Given the description of an element on the screen output the (x, y) to click on. 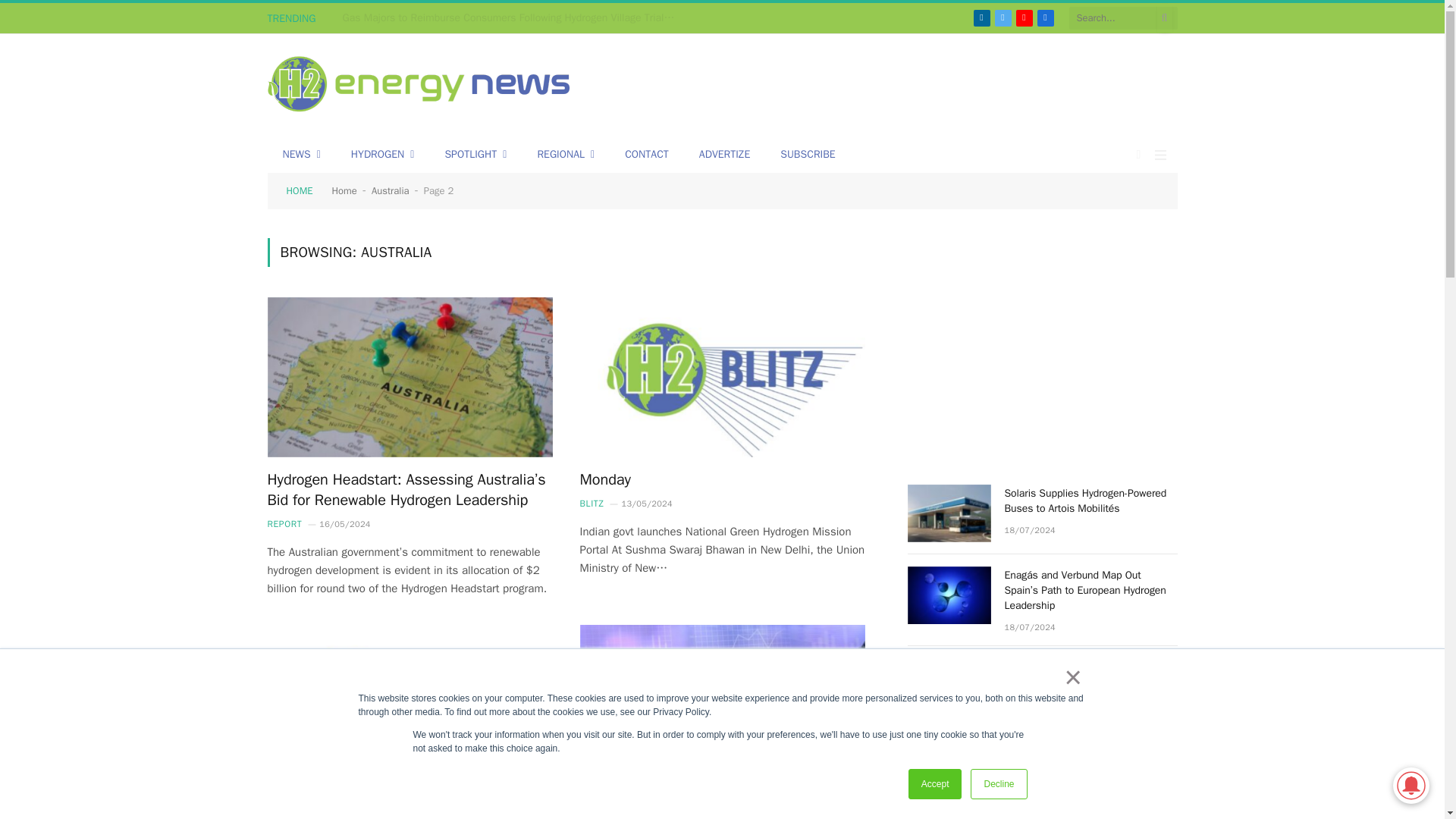
Decline (998, 784)
Wednesday (408, 704)
Switch to Dark Design - easier on eyes. (1138, 154)
Monday (721, 377)
Green Hydrogen News (418, 85)
HYDROGEN (382, 154)
Facebook (1045, 17)
Australia and Japan Forge New Hydrogen Ties (721, 704)
Accept (935, 784)
NEWS (300, 154)
LinkedIn (982, 17)
YouTube (1024, 17)
